Given the description of an element on the screen output the (x, y) to click on. 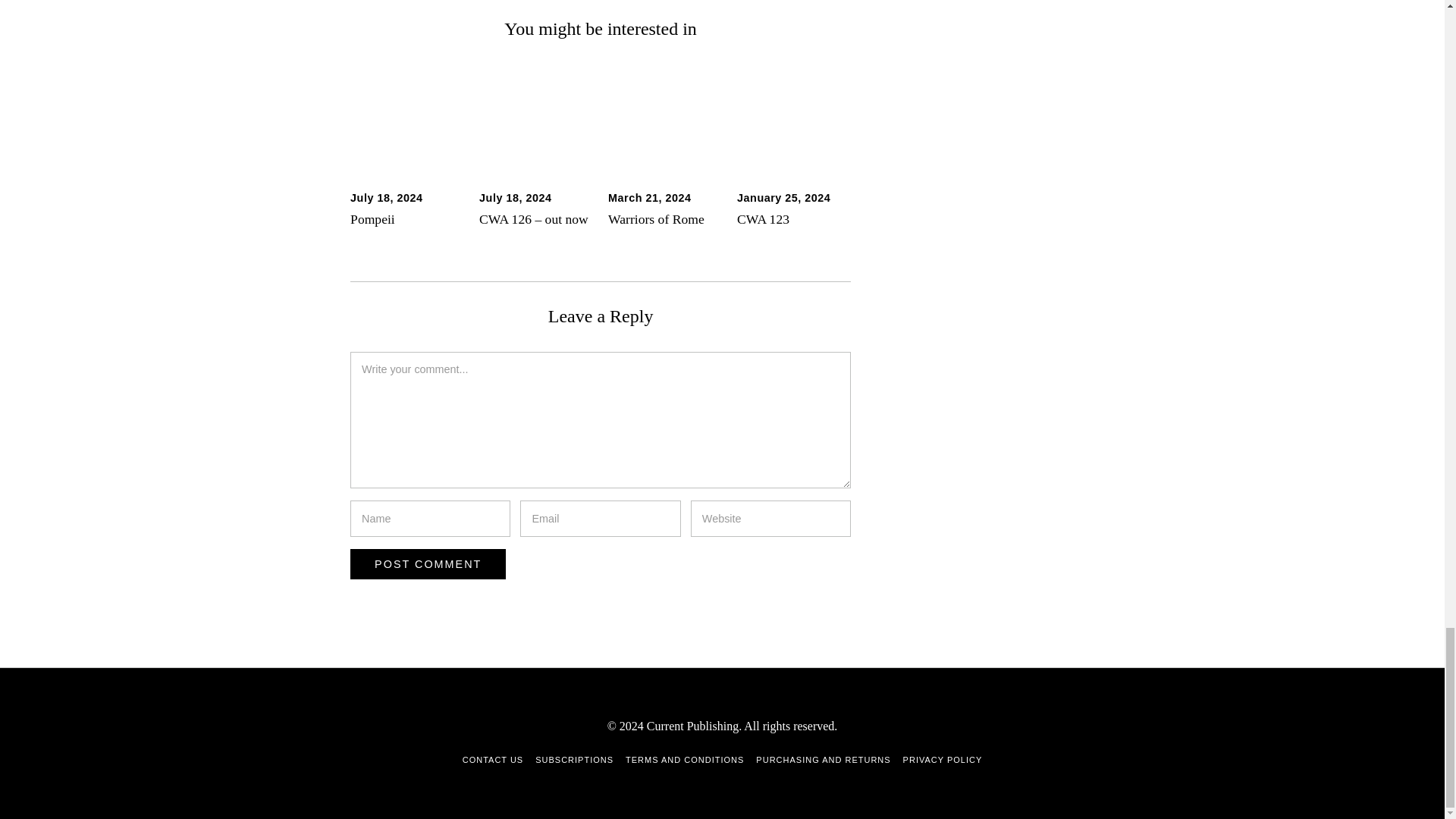
Post Comment (427, 562)
